Given the description of an element on the screen output the (x, y) to click on. 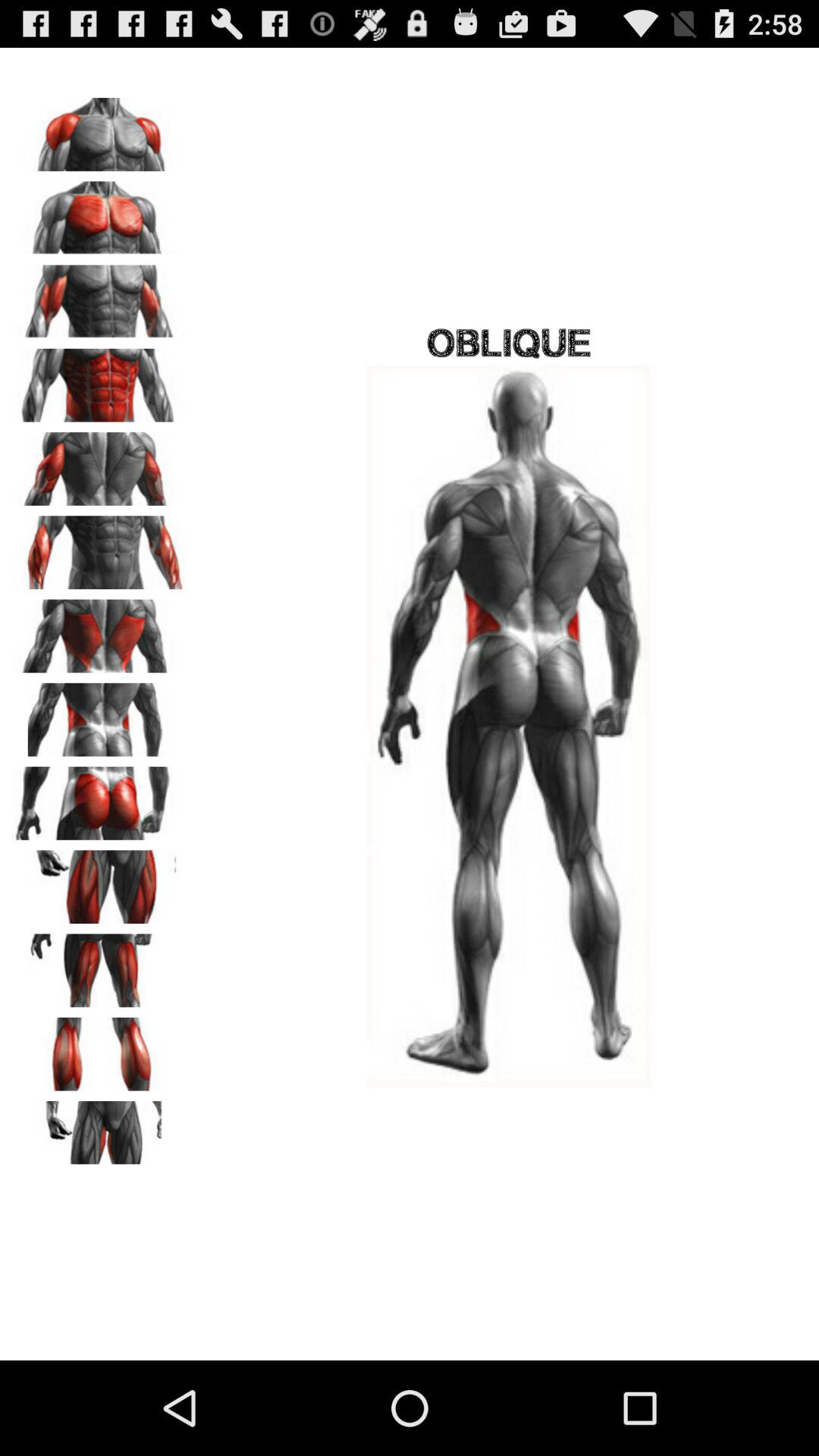
see in easy (99, 547)
